Given the description of an element on the screen output the (x, y) to click on. 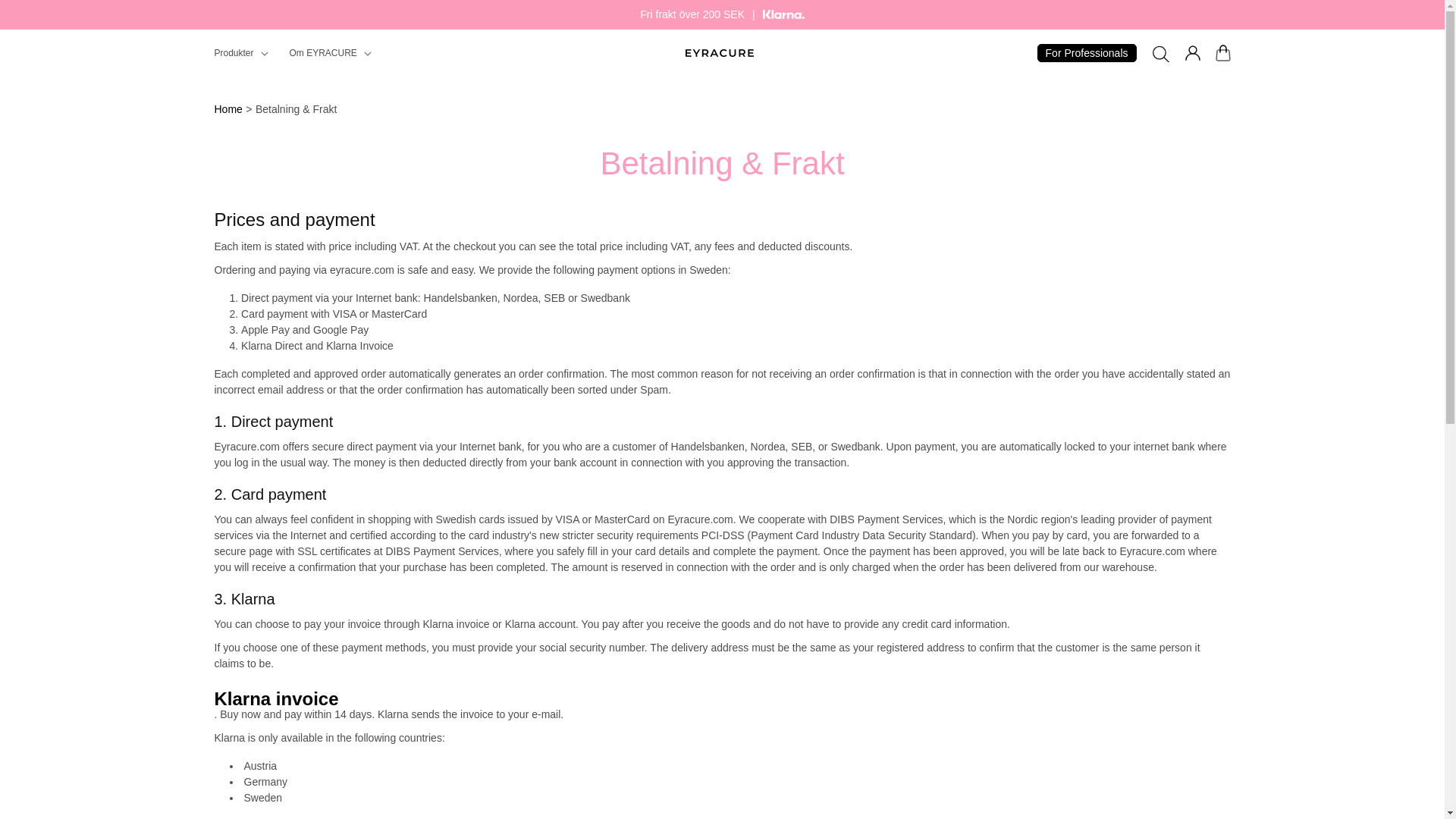
For Professionals (1086, 53)
Home (227, 109)
Home (227, 109)
